Given the description of an element on the screen output the (x, y) to click on. 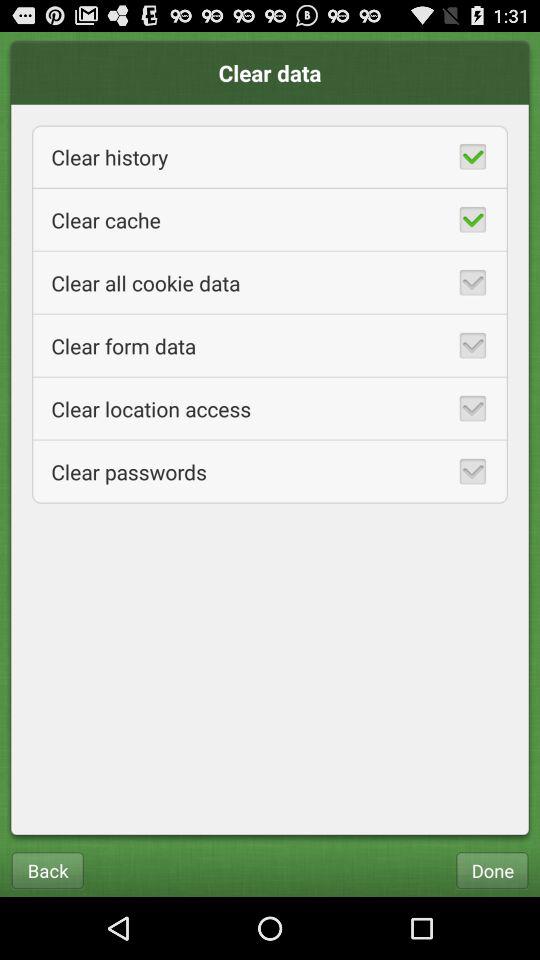
click the clear history icon (269, 156)
